Given the description of an element on the screen output the (x, y) to click on. 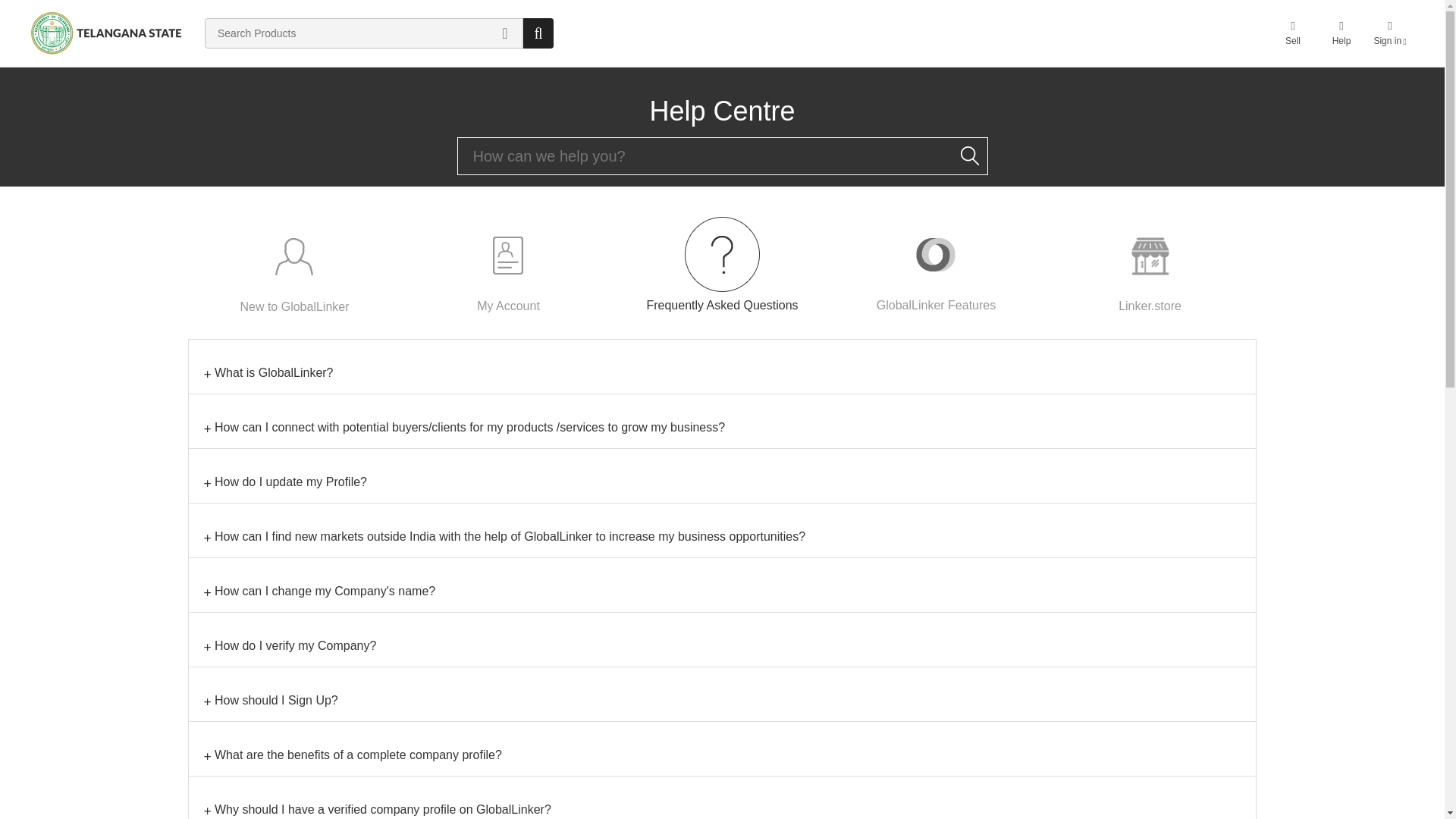
What is GlobalLinker? (721, 372)
New to GlobalLinker (294, 265)
Help Centre (721, 111)
Help (1341, 33)
Globallinker (106, 33)
Sign in (1389, 33)
Sell (1292, 33)
Frequently Asked Questions (721, 264)
GlobalLinker Features (935, 264)
